Given the description of an element on the screen output the (x, y) to click on. 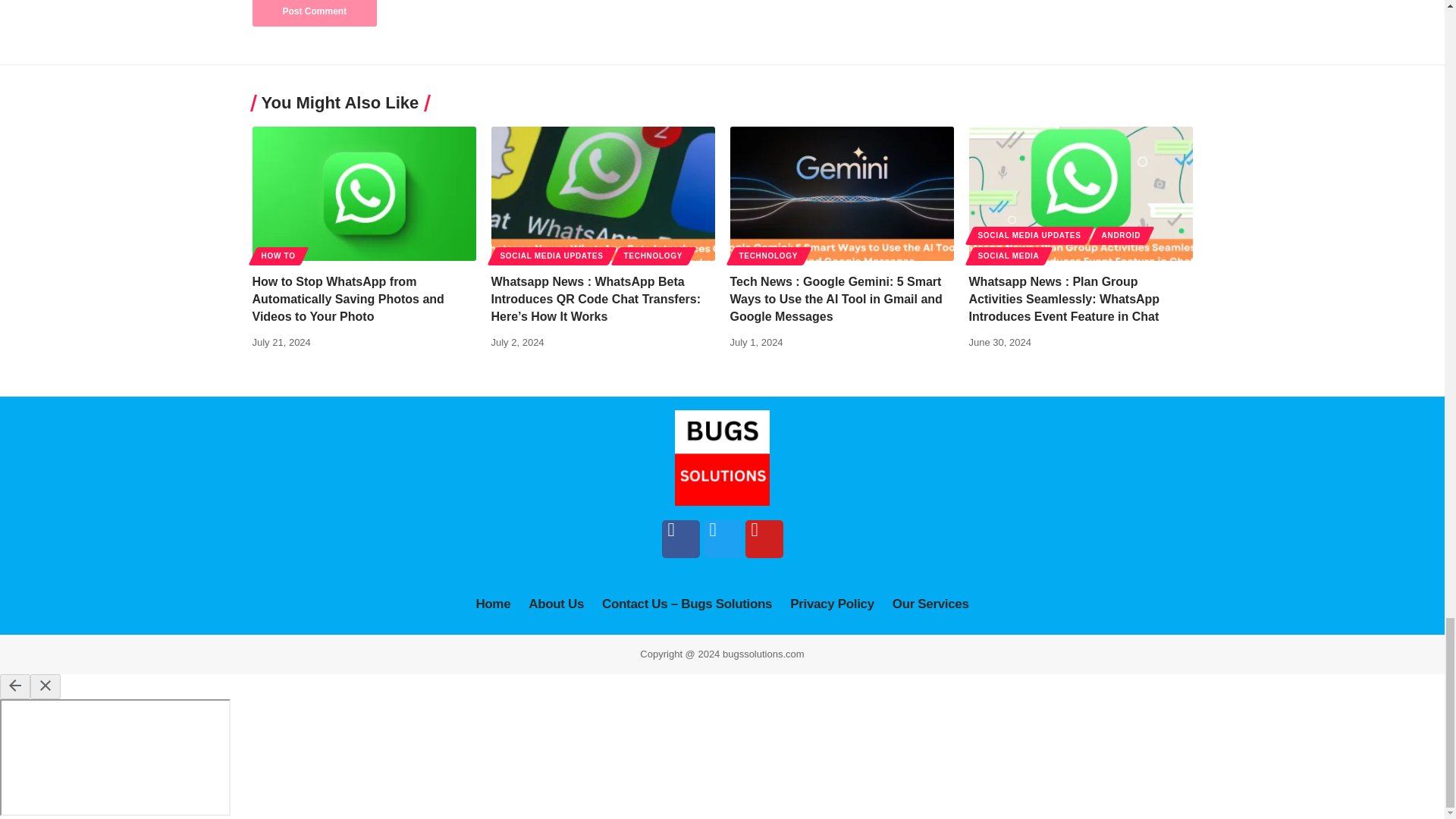
Post Comment (314, 13)
